Given the description of an element on the screen output the (x, y) to click on. 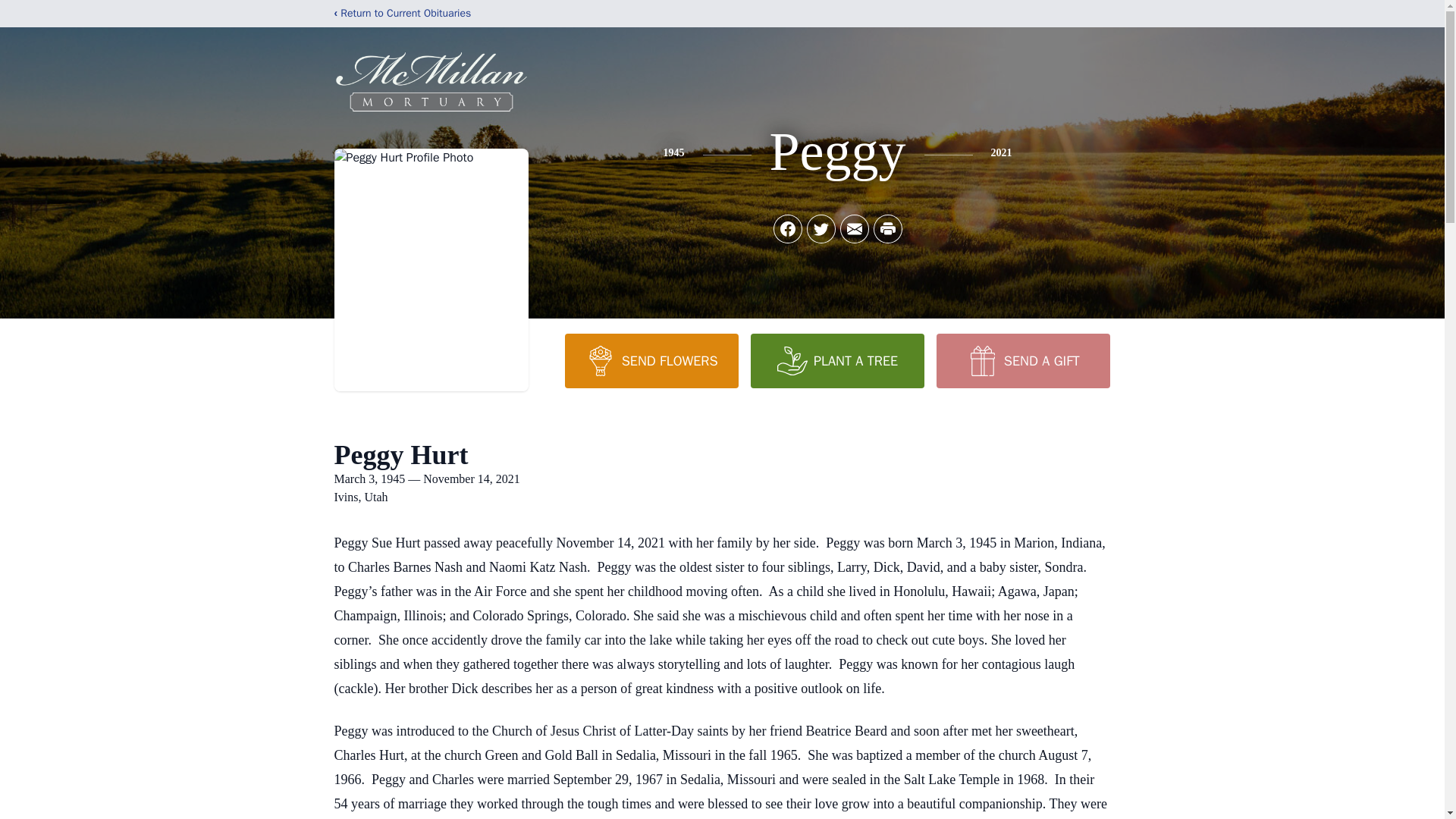
PLANT A TREE (837, 360)
SEND FLOWERS (651, 360)
SEND A GIFT (1022, 360)
